Given the description of an element on the screen output the (x, y) to click on. 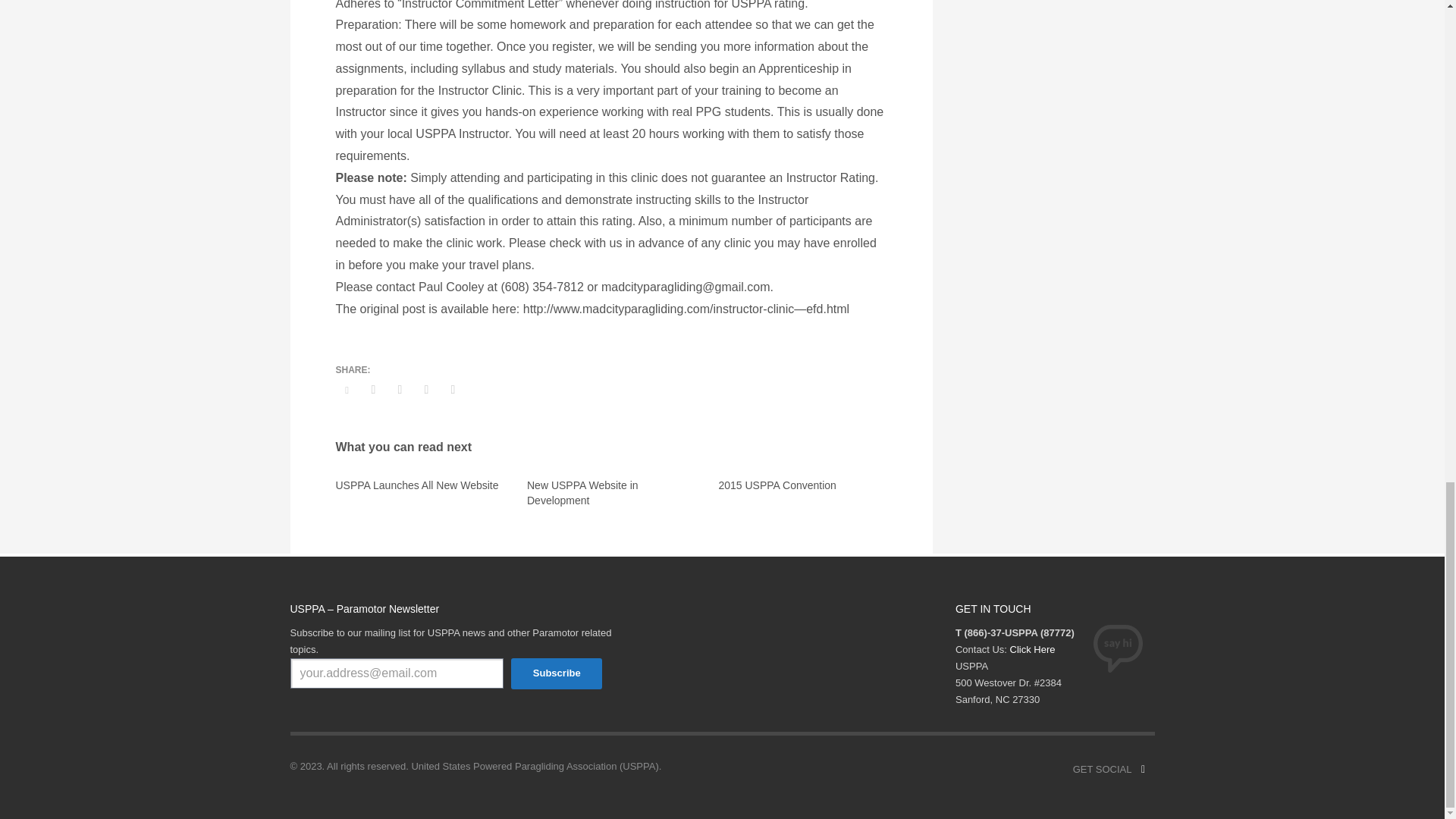
SHARE ON MAIL (452, 389)
SHARE ON PINTEREST (426, 389)
Like us on Facebook! (1142, 769)
SHARE ON GPLUS (399, 389)
SHARE ON FACEBOOK (373, 389)
SHARE ON TWITTER (346, 390)
Subscribe (556, 673)
